Given the description of an element on the screen output the (x, y) to click on. 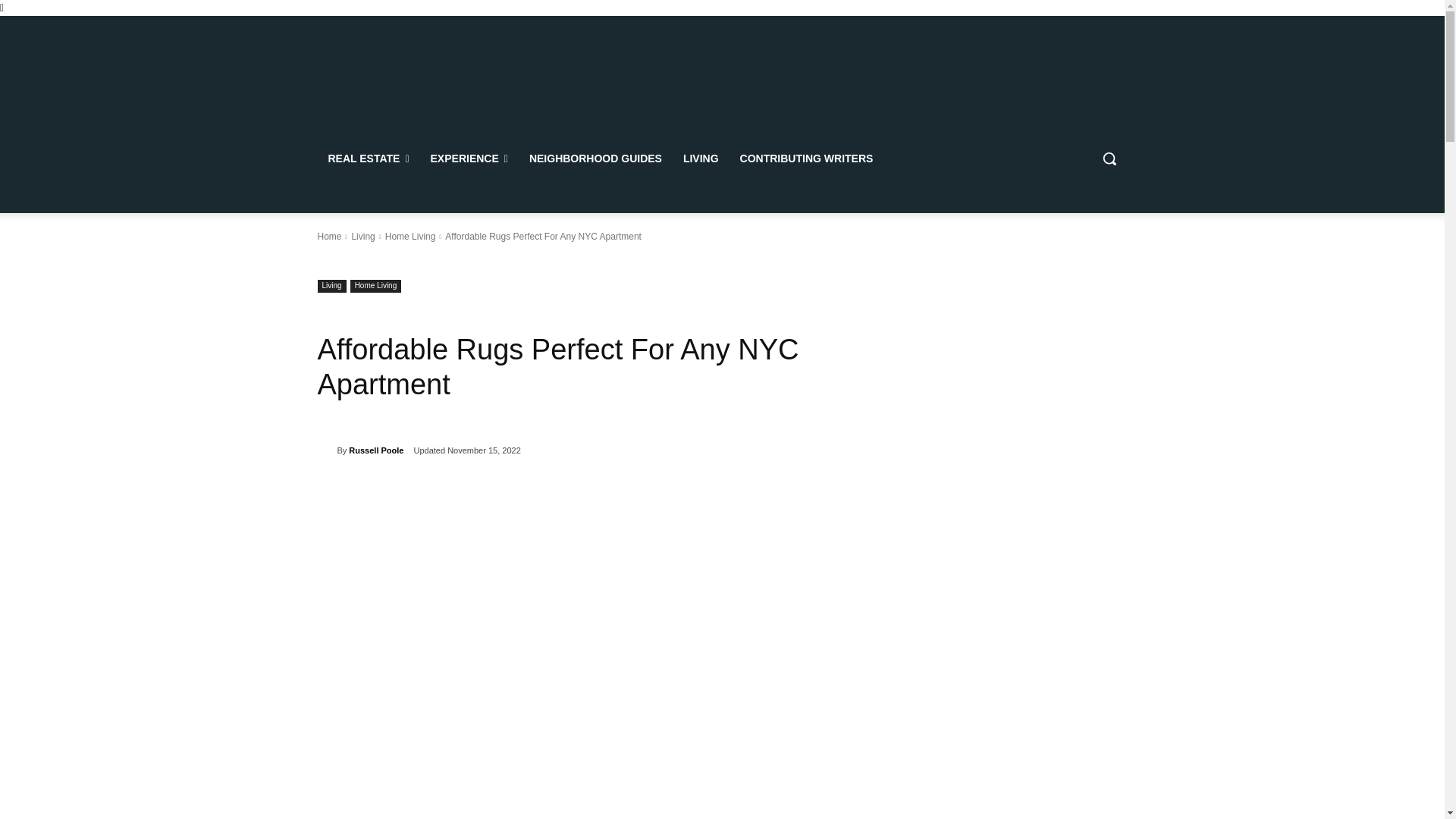
View all posts in Living (362, 235)
EXPERIENCE (469, 158)
Russell Poole (326, 450)
REAL ESTATE (368, 158)
CONTRIBUTING WRITERS (806, 158)
View all posts in Home Living (410, 235)
LIVING (700, 158)
NEIGHBORHOOD GUIDES (595, 158)
